Given the description of an element on the screen output the (x, y) to click on. 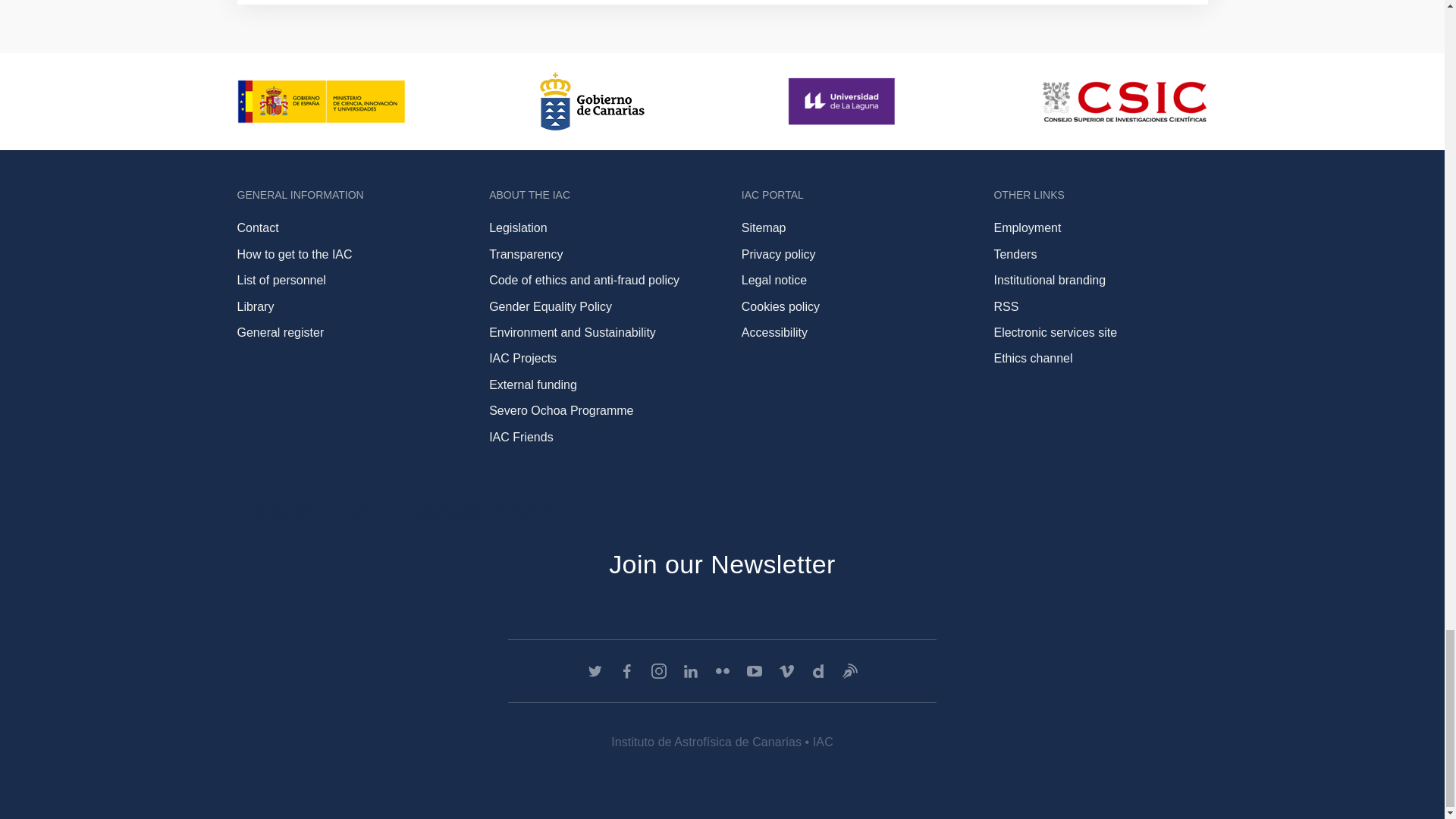
CSIC (1124, 101)
Gobierno de Canarias (591, 101)
Universidad de La Laguna (842, 101)
Electronic services site (1054, 332)
